Given the description of an element on the screen output the (x, y) to click on. 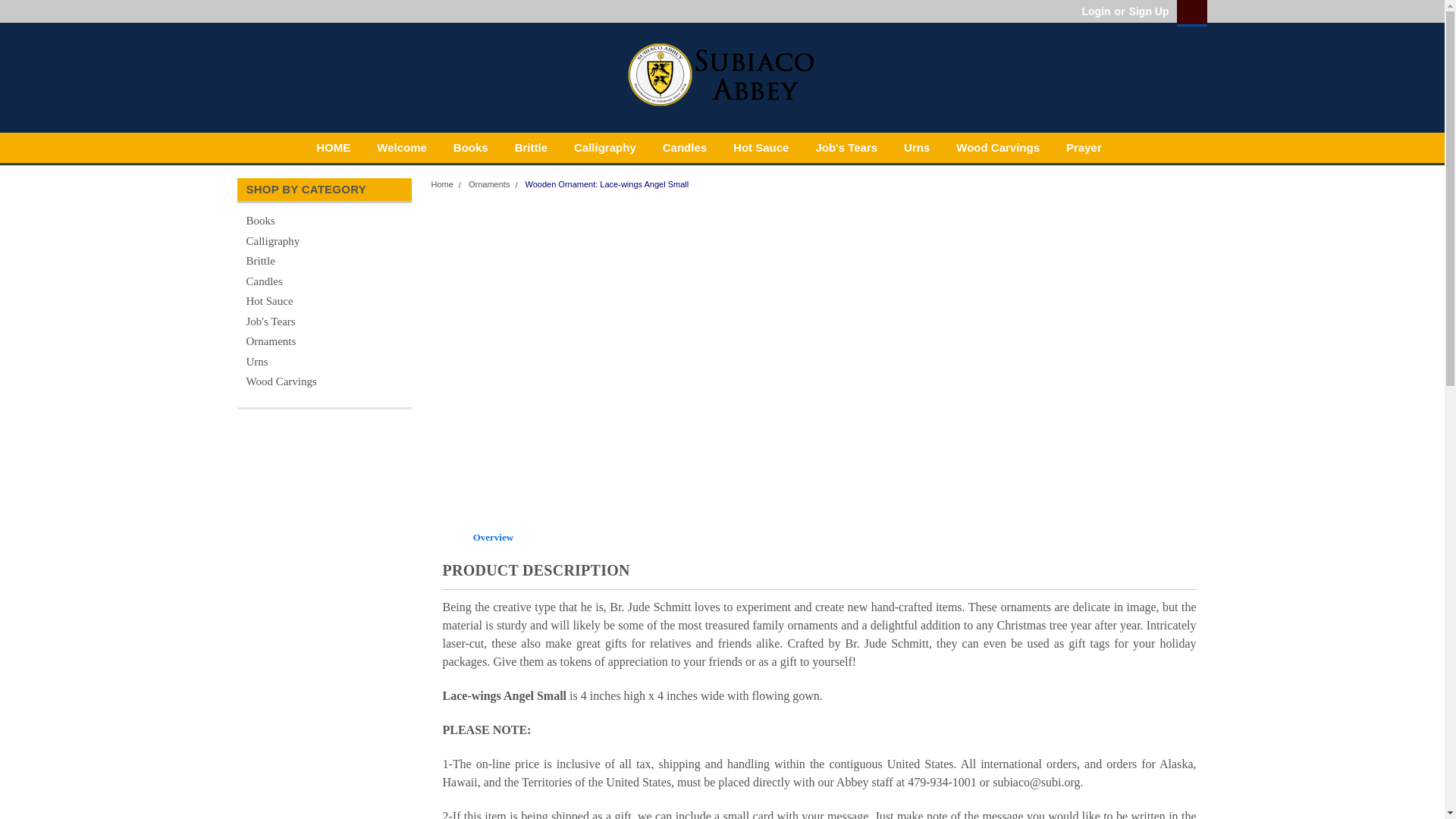
Sign Up (1147, 11)
Subiaco Abbey Store (721, 75)
Login (1095, 11)
